Given the description of an element on the screen output the (x, y) to click on. 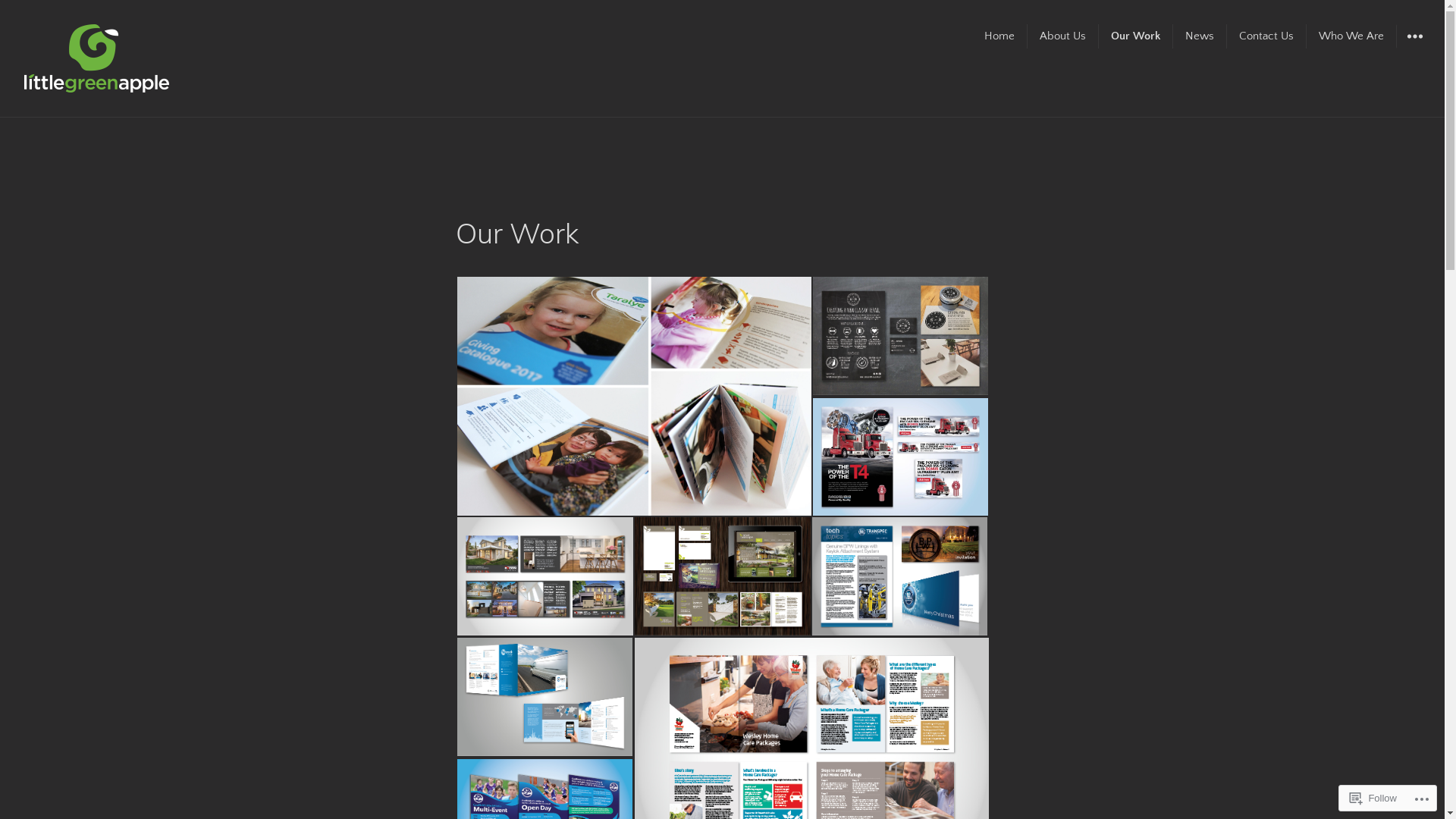
WIDGETS Element type: text (1414, 36)
Little Green Apple Element type: text (104, 112)
BPW Transpec Element type: hover (898, 576)
News Element type: text (1199, 36)
Our Work Element type: text (1135, 36)
Smart Landscapes Element type: hover (721, 576)
Rycon Building Group Element type: hover (544, 576)
Home Element type: text (999, 36)
Who We Are Element type: text (1351, 36)
Taralye Giving Catalogue 2017 Element type: hover (633, 395)
Contact Us Element type: text (1265, 36)
School of Retail Element type: hover (900, 335)
Ctrack Australia Element type: hover (543, 696)
Kenworth Element type: hover (900, 456)
About Us Element type: text (1062, 36)
Follow Element type: text (1372, 797)
